Given the description of an element on the screen output the (x, y) to click on. 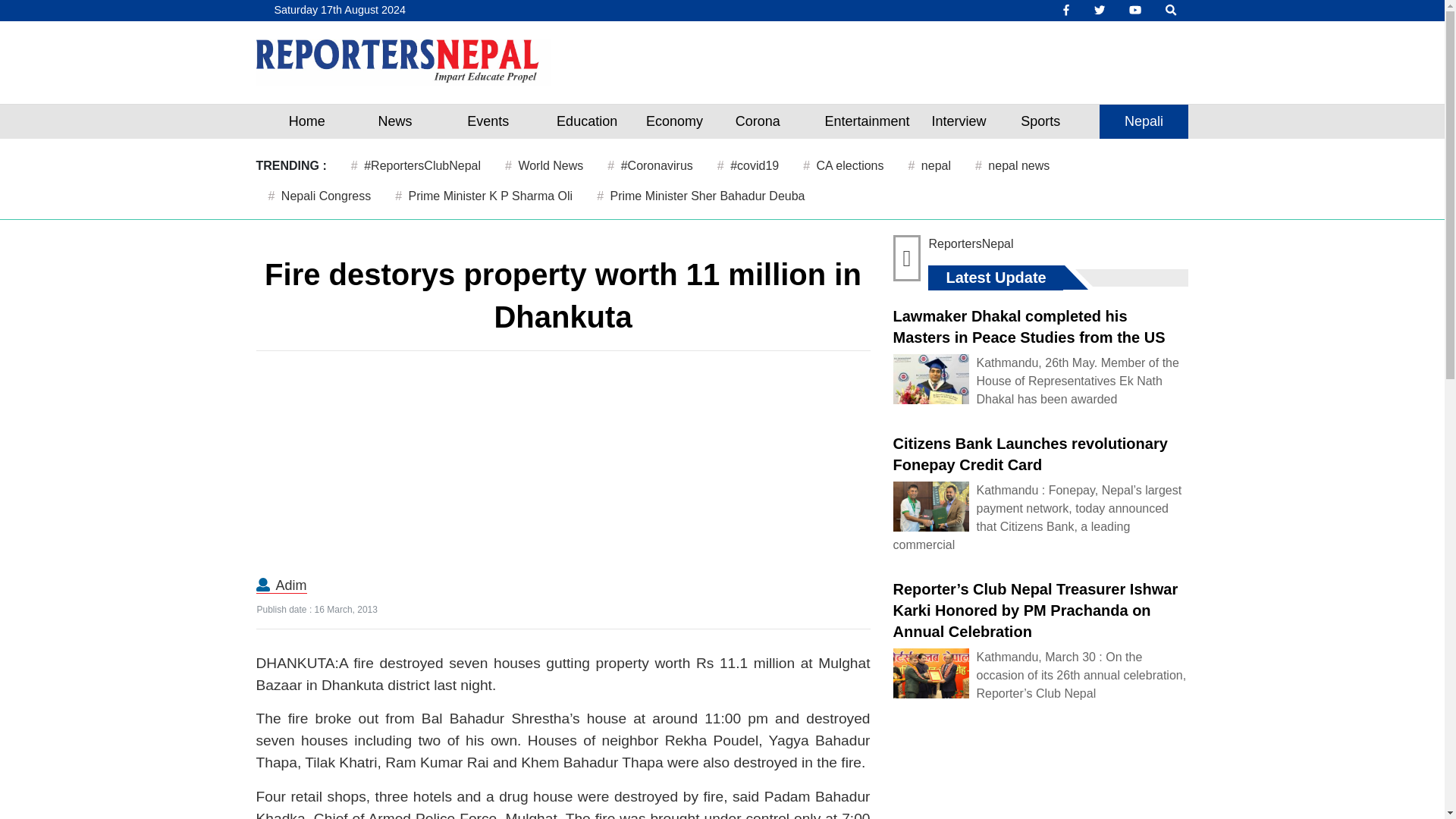
Education (587, 121)
Posts by Adim (291, 585)
Entertainment (866, 121)
Corona (756, 121)
Advertisement (563, 469)
Saturday 17th August 2024 (337, 10)
Home (307, 121)
Sports (1040, 121)
Nepali (1144, 121)
Economy (674, 121)
